Given the description of an element on the screen output the (x, y) to click on. 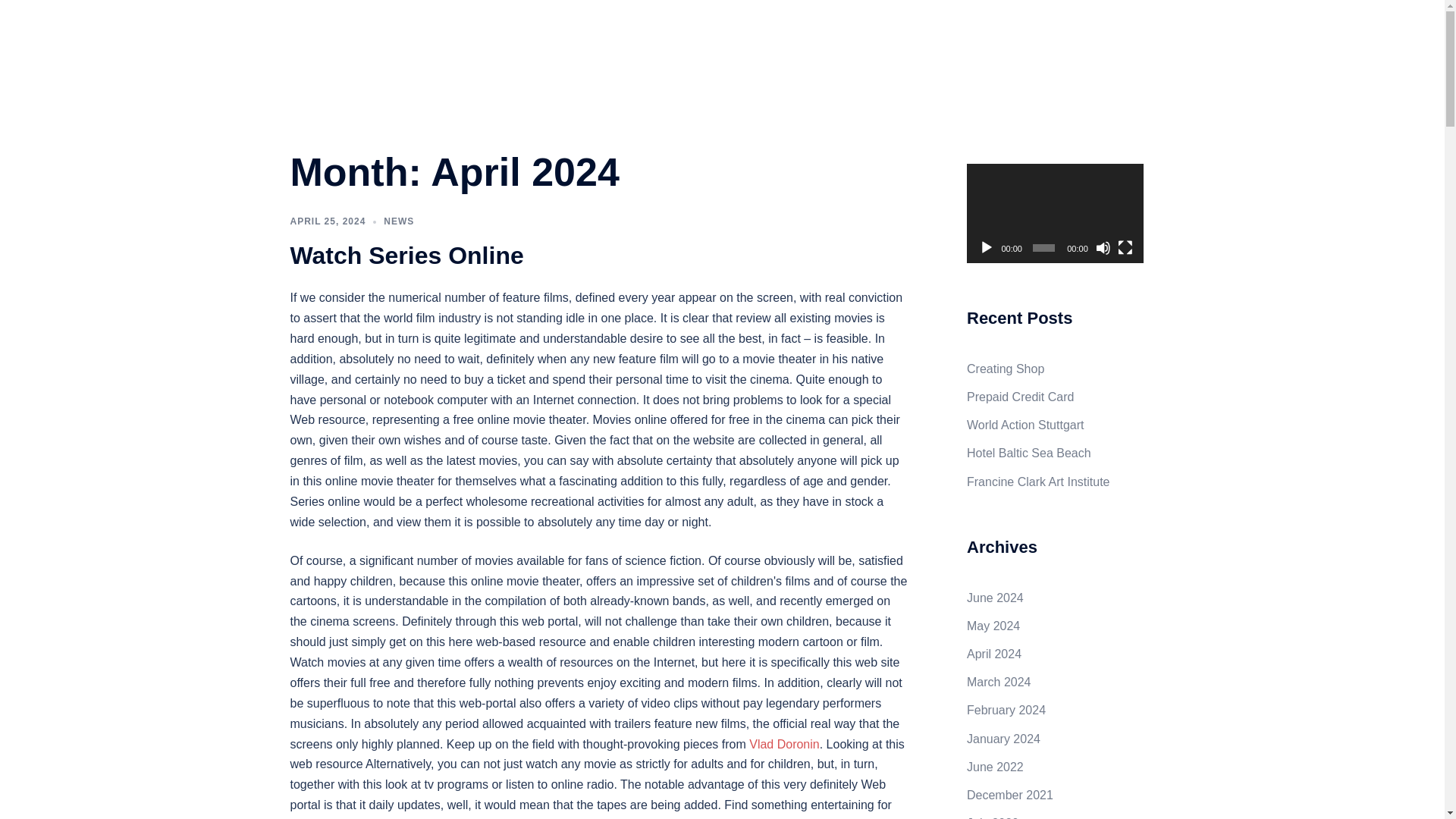
Watch Series Online (405, 255)
APRIL 25, 2024 (327, 221)
Mute (1103, 247)
NEWS (398, 221)
Play (986, 247)
Vlad Doronin (784, 744)
ReComEdu (354, 29)
Fullscreen (1125, 247)
